Given the description of an element on the screen output the (x, y) to click on. 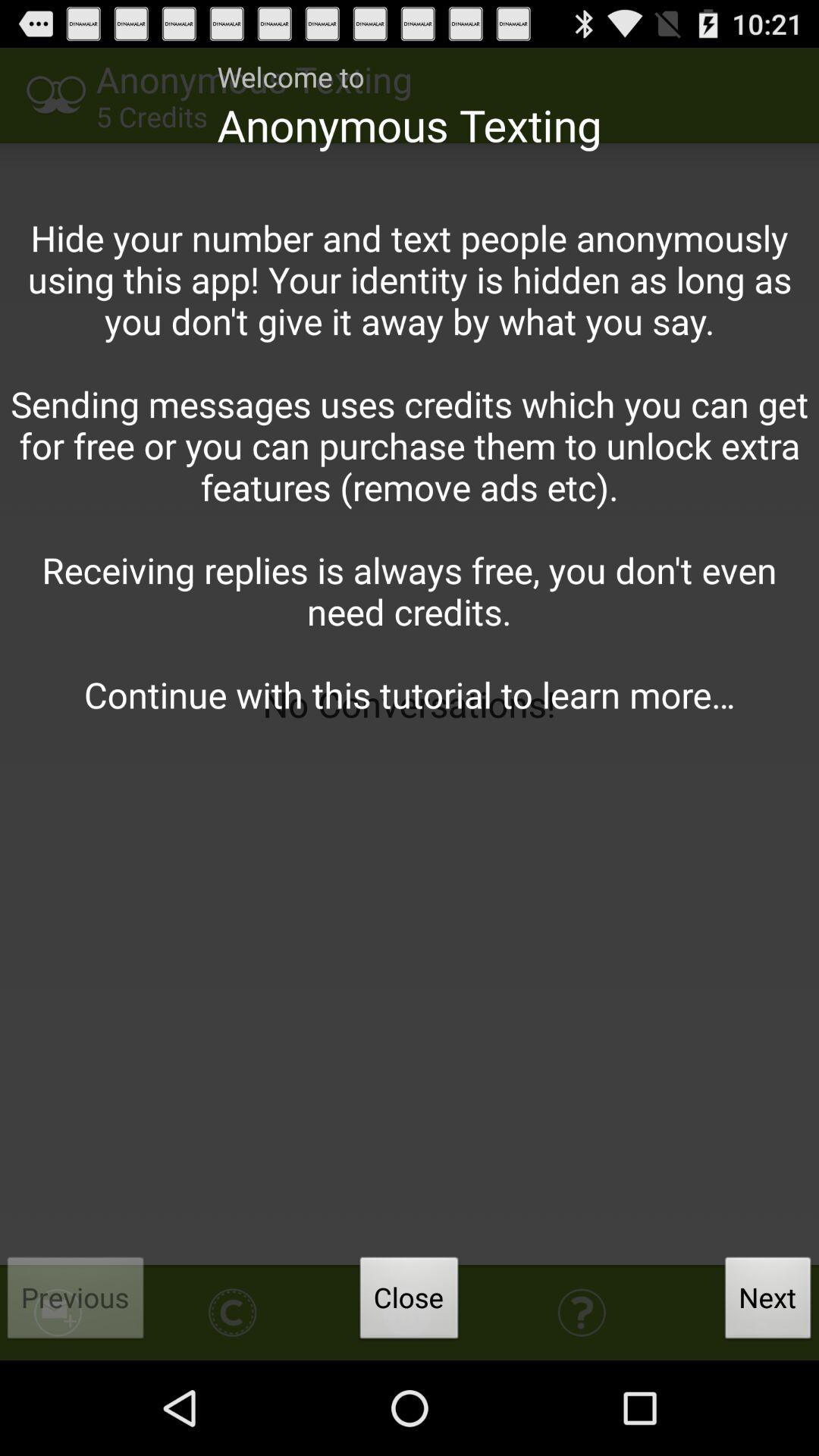
turn off the previous item (75, 1302)
